Given the description of an element on the screen output the (x, y) to click on. 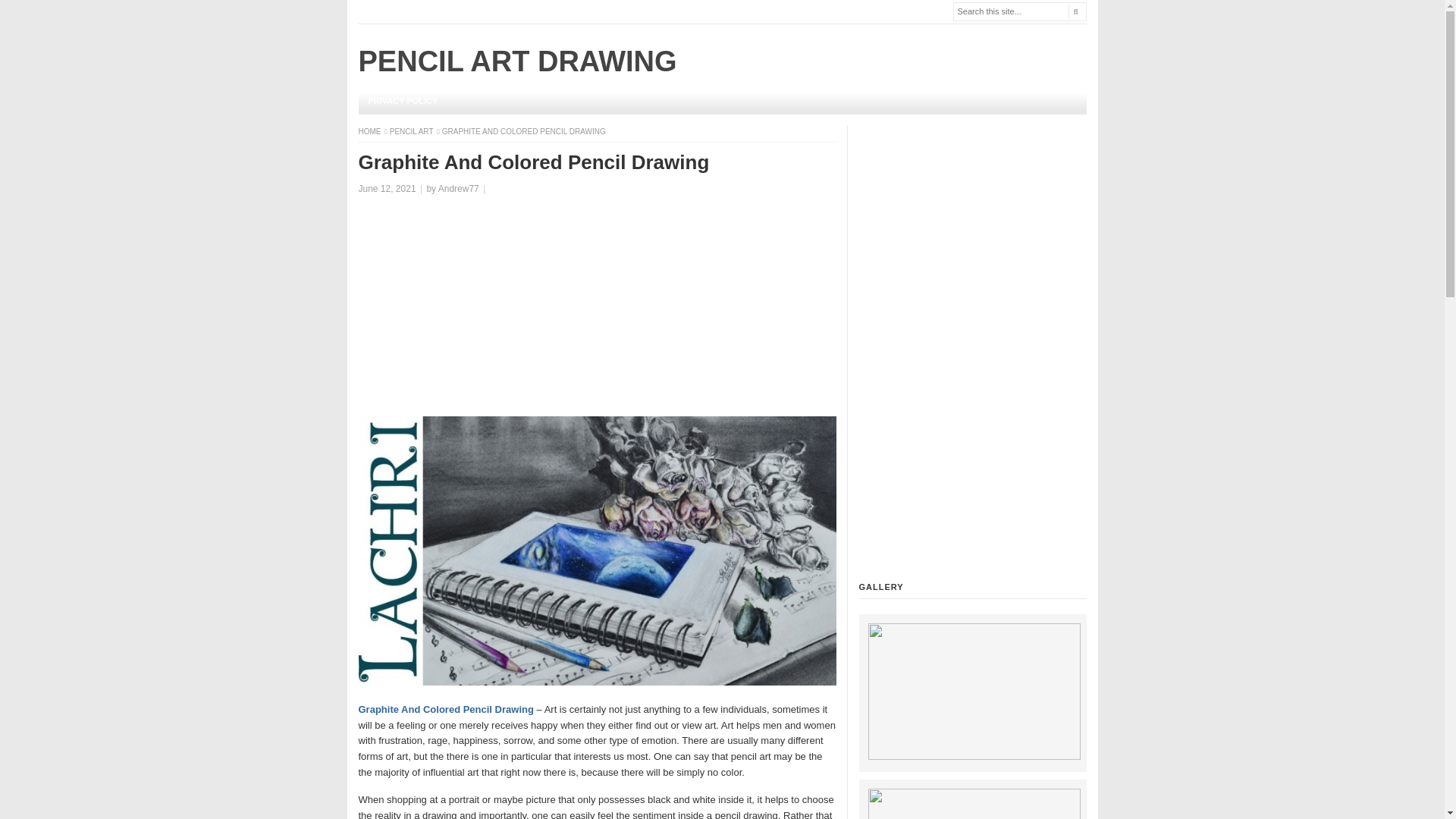
Graphite And Colored Pencil Drawing (445, 708)
Andrew77 (458, 188)
HOME (369, 131)
PRIVACY POLICY (402, 100)
Advertisement (596, 309)
Pencil Art Drawing (369, 131)
Advertisement (972, 353)
PENCIL ART (412, 131)
PENCIL ART DRAWING (517, 61)
